Given the description of an element on the screen output the (x, y) to click on. 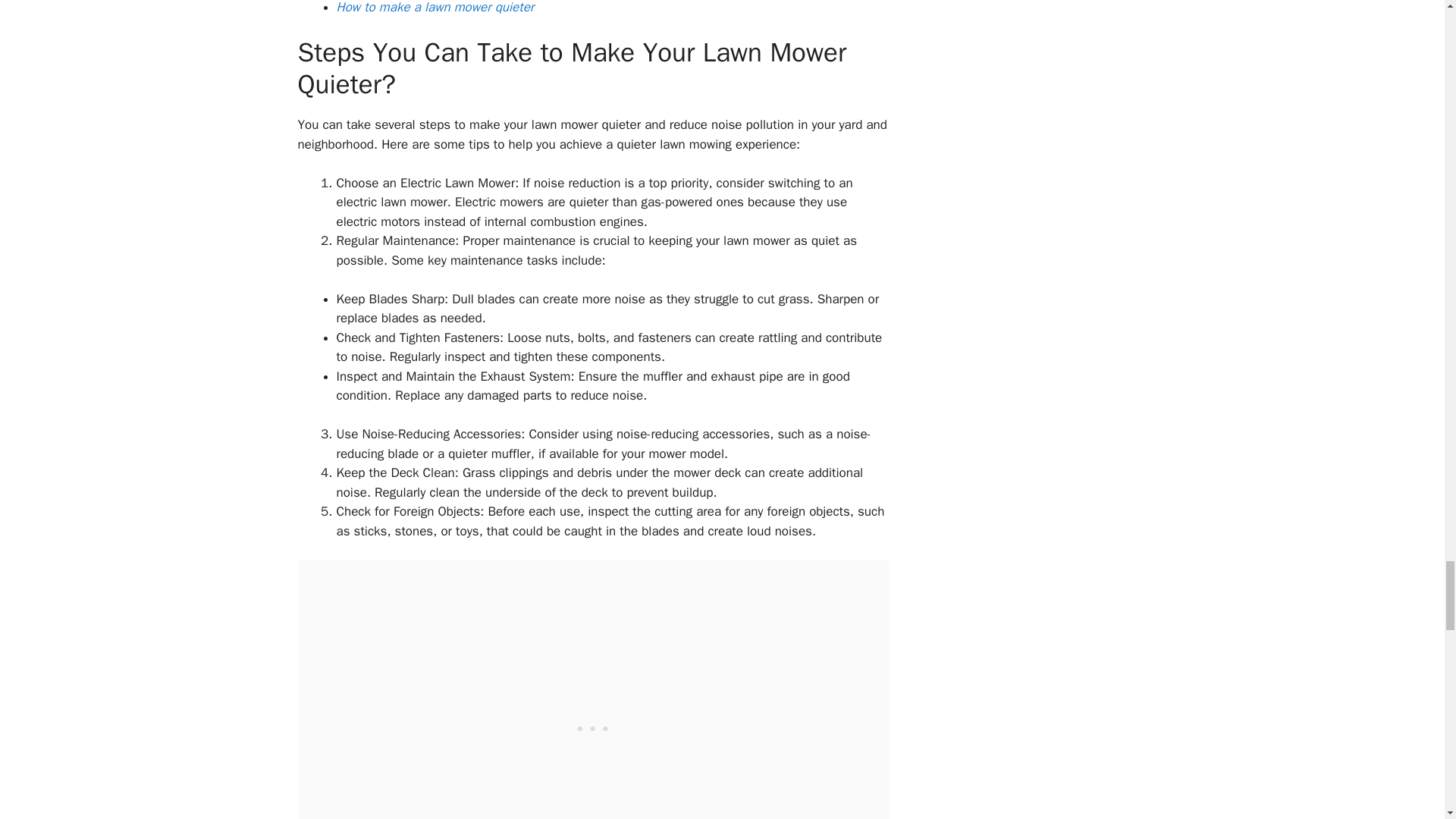
How to make a lawn mower quieter (435, 7)
